Given the description of an element on the screen output the (x, y) to click on. 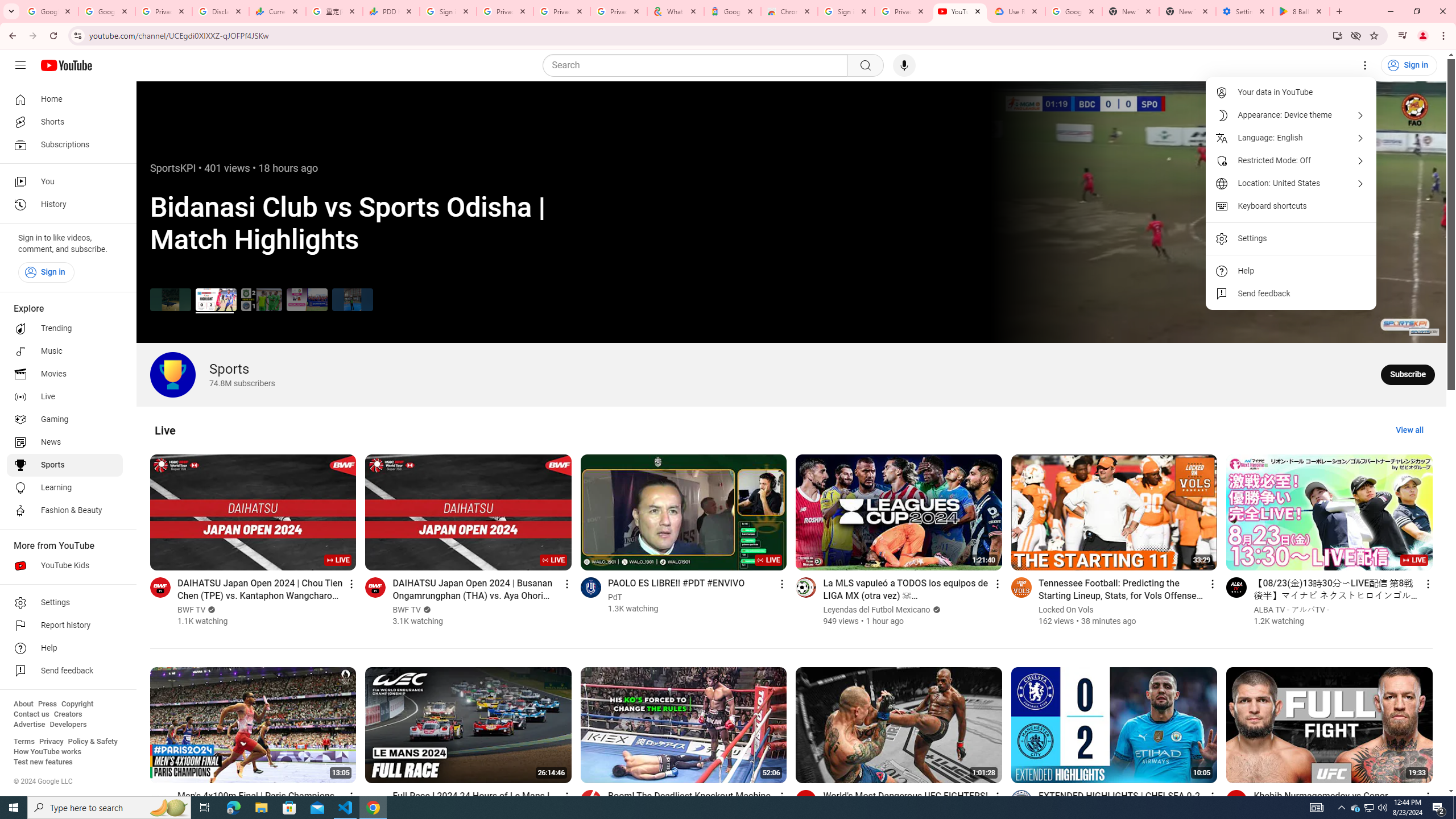
Restricted Mode: Off (1291, 160)
Go to channel (1236, 799)
Movies (64, 373)
PdT (615, 597)
Google Workspace Admin Community (49, 11)
Guide (20, 65)
Bidanasi Club vs Sports Odisha | Match Highlights (215, 299)
Bidanasi Club vs Sports Odisha | Match Highlights (215, 299)
Send feedback (1291, 293)
Install YouTube (1336, 35)
